Given the description of an element on the screen output the (x, y) to click on. 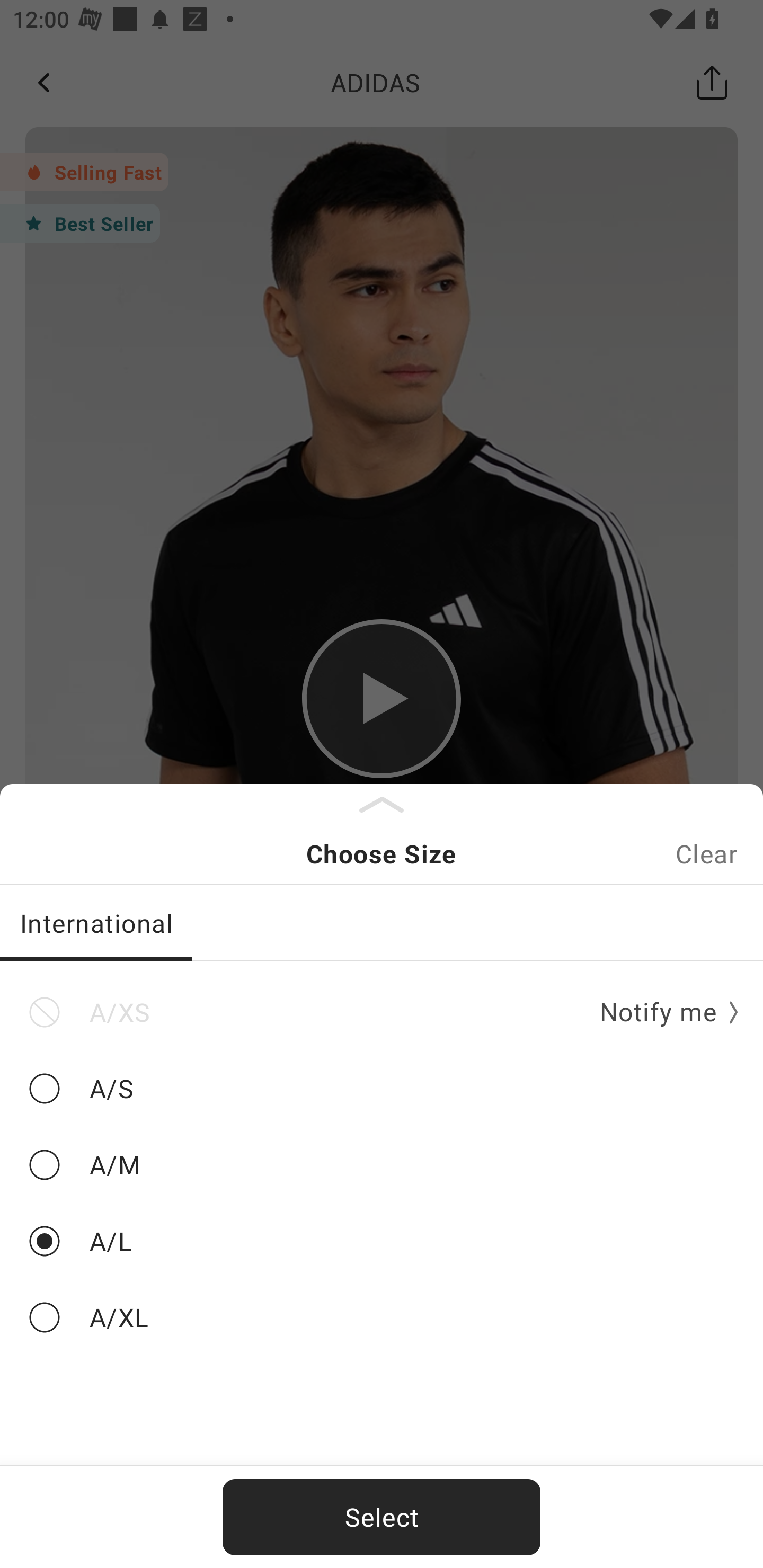
Clear (706, 852)
A/XS Notify me (381, 1011)
Notify me (661, 1012)
A/S (381, 1088)
A/M (381, 1164)
A/L (381, 1240)
A/XL (381, 1317)
Select (381, 1516)
